Given the description of an element on the screen output the (x, y) to click on. 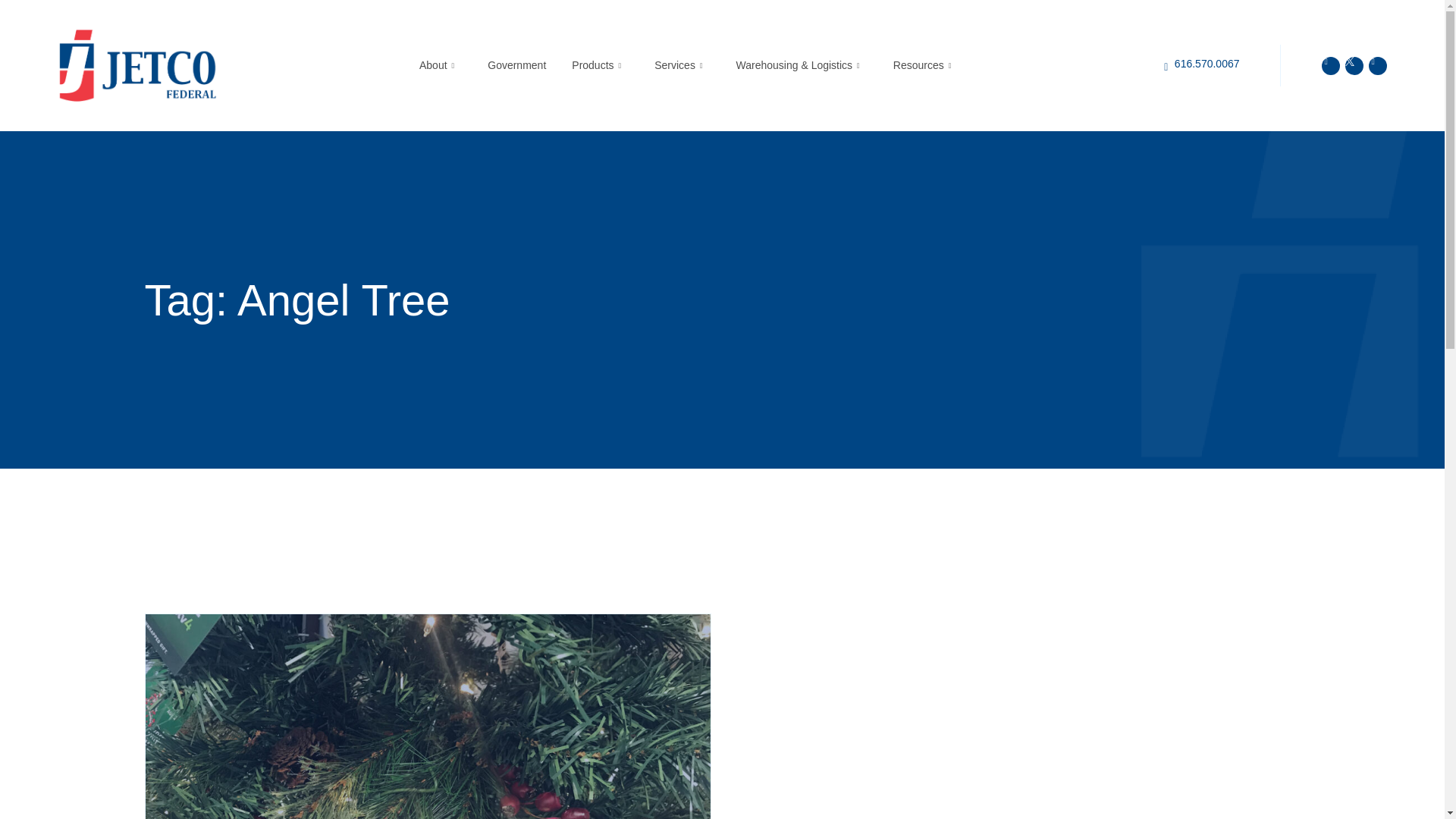
616.570.0067 (1207, 63)
Services (682, 65)
Government (516, 65)
About (440, 65)
Resources (925, 65)
Products (599, 65)
